Given the description of an element on the screen output the (x, y) to click on. 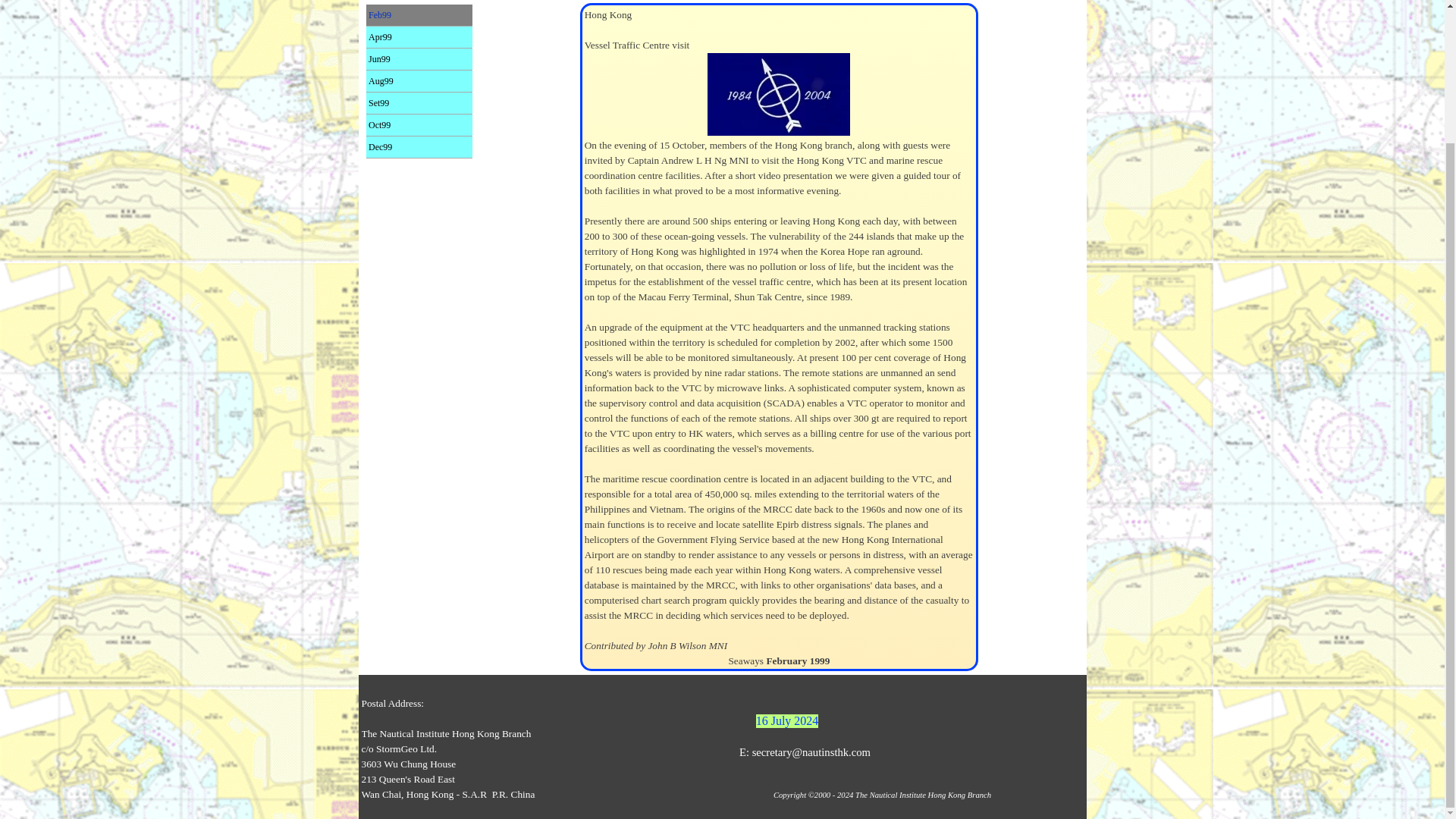
Feb99 (419, 14)
Apr99 (419, 36)
Aug99 (419, 80)
Dec99 (419, 147)
Set99 (419, 102)
Oct99 (419, 124)
Jun99 (419, 58)
